Given the description of an element on the screen output the (x, y) to click on. 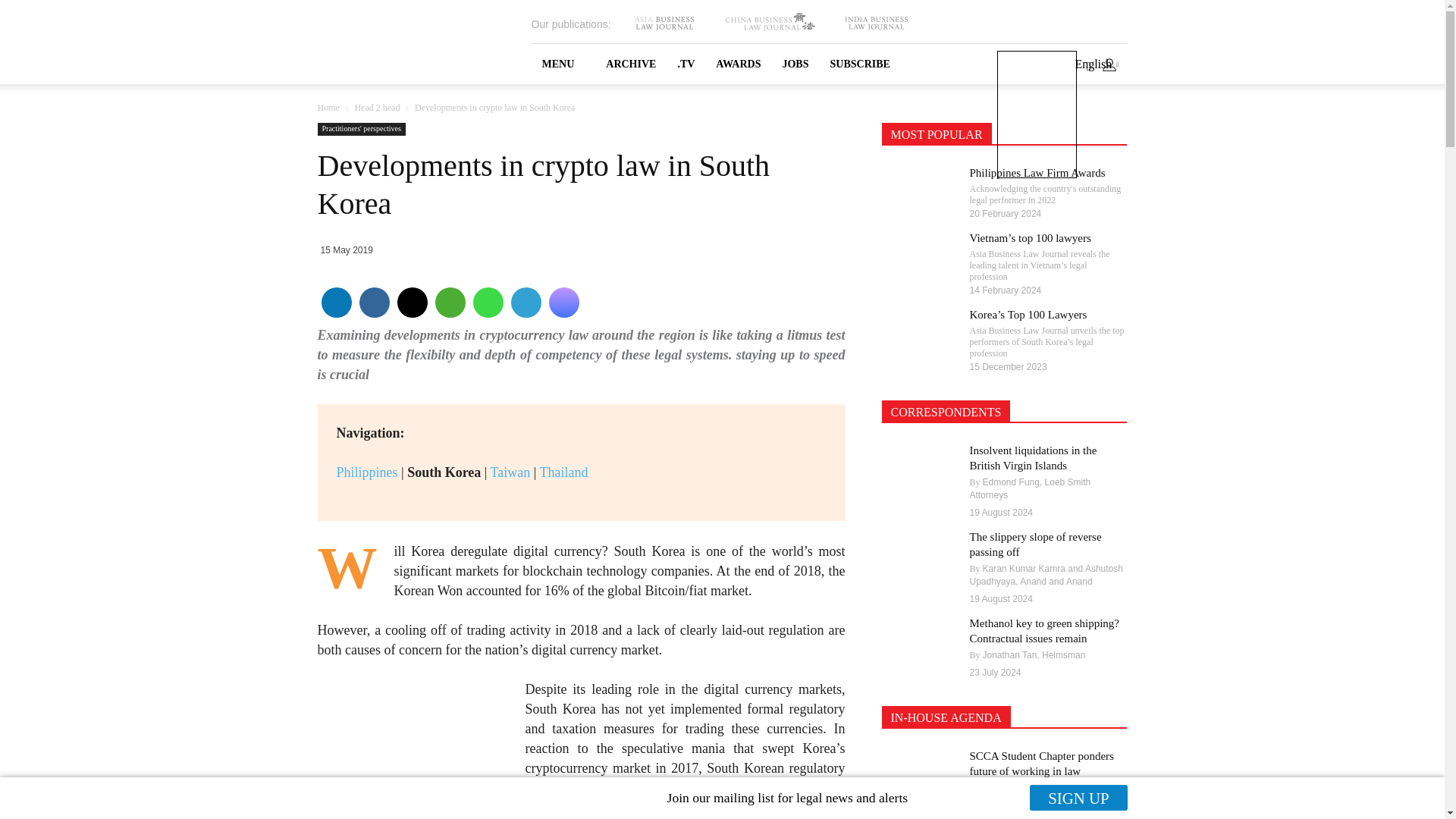
View all posts in Head 2 head (375, 107)
ABLJ (664, 23)
Copy link (563, 302)
LinkedIn (335, 302)
CBLJ (769, 23)
Twitter (411, 302)
MENU (563, 64)
Telegram (525, 302)
Facebook (373, 302)
Whatsapp (487, 302)
